Given the description of an element on the screen output the (x, y) to click on. 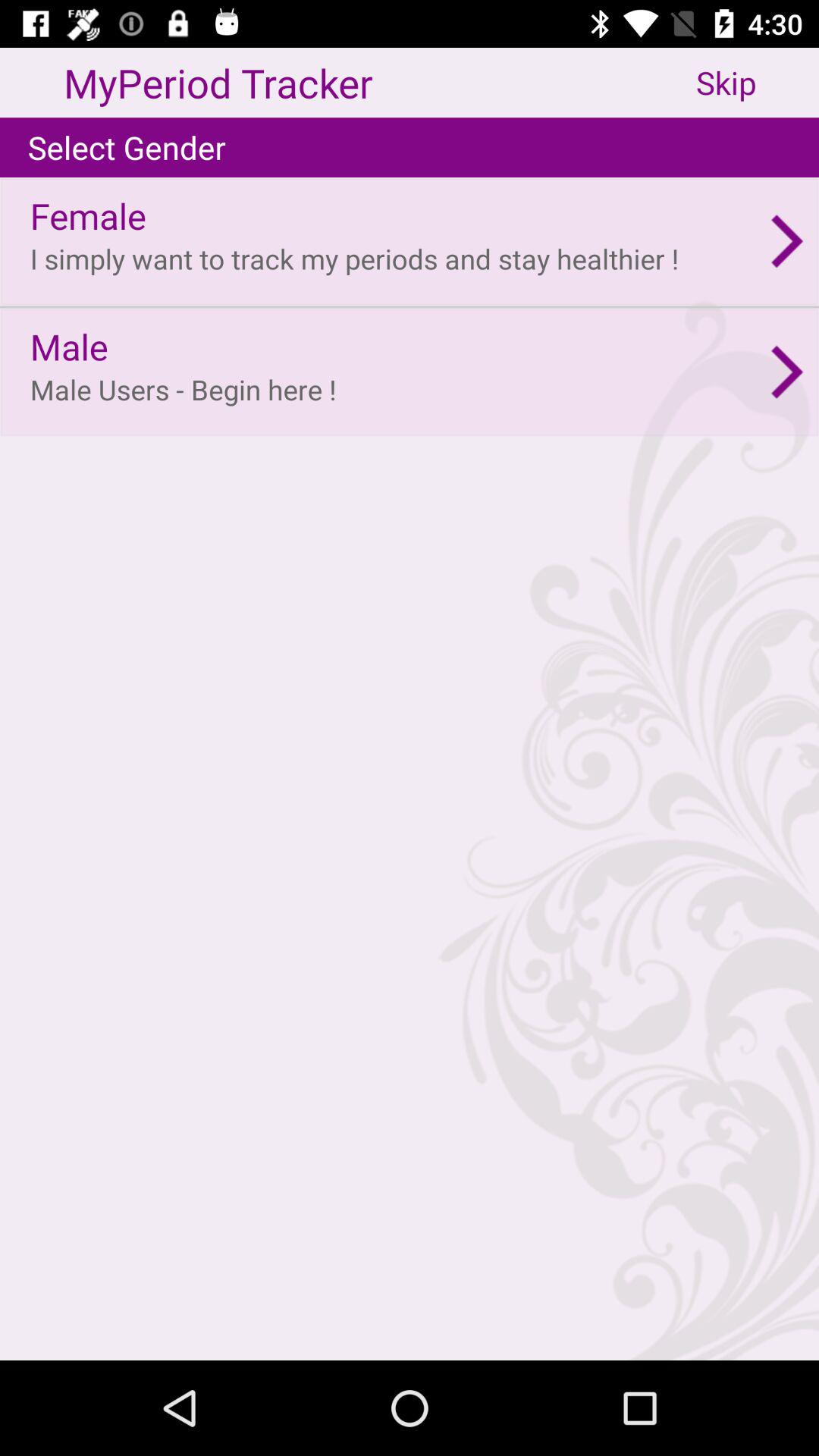
launch the skip (757, 82)
